Given the description of an element on the screen output the (x, y) to click on. 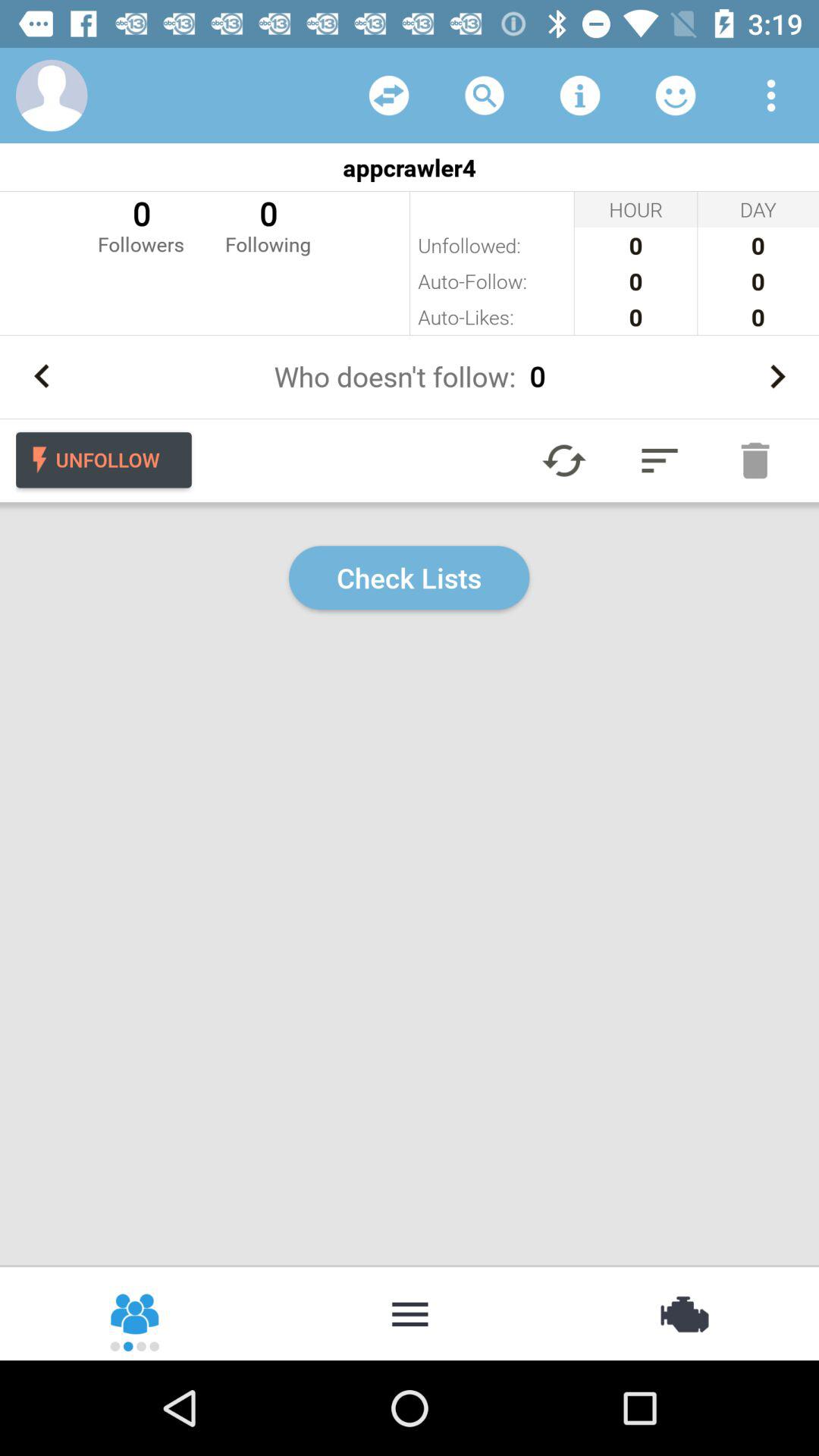
user profile (51, 95)
